Given the description of an element on the screen output the (x, y) to click on. 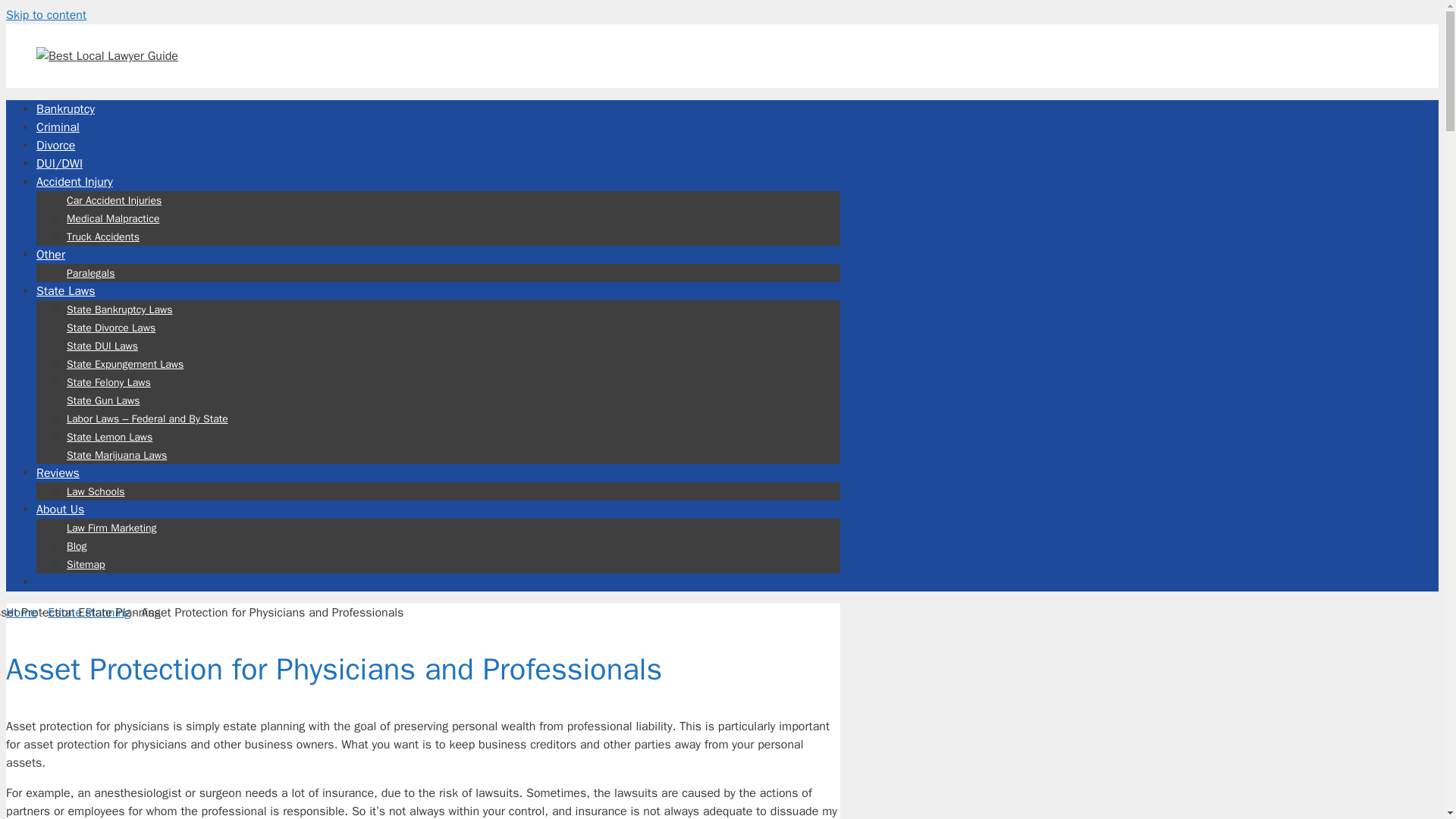
Accident Injury (74, 181)
Criminal (58, 127)
Estate Planning (89, 612)
State Laws (66, 290)
Blog (76, 545)
Home (21, 612)
Law Schools (95, 491)
State Bankruptcy Laws (119, 309)
State Marijuana Laws (116, 454)
State Felony Laws (108, 382)
Paralegals (90, 273)
Truck Accidents (102, 236)
Bankruptcy (65, 109)
State DUI Laws (102, 345)
Other (50, 254)
